Given the description of an element on the screen output the (x, y) to click on. 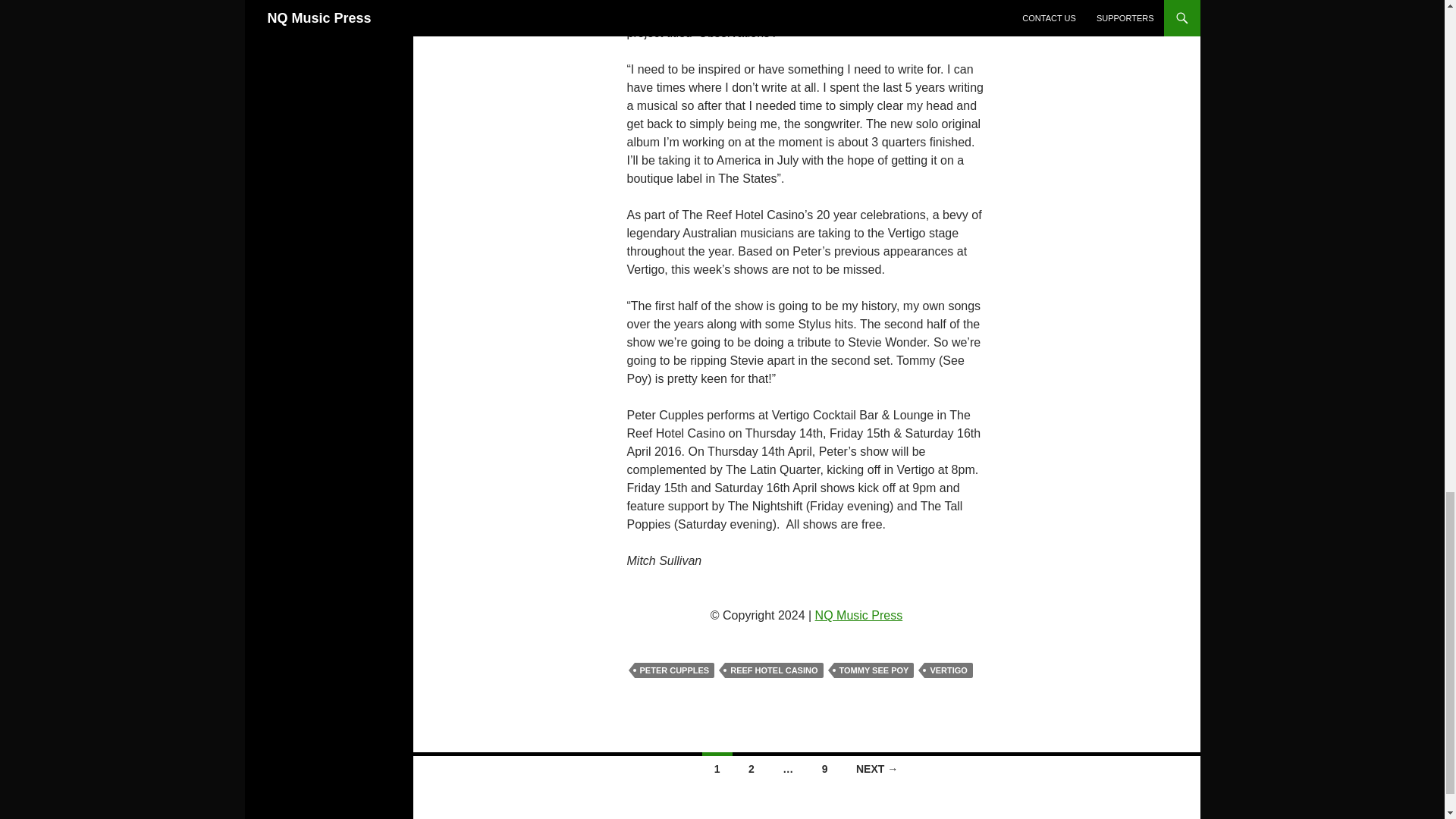
2 (751, 767)
PETER CUPPLES (673, 670)
TOMMY SEE POY (874, 670)
VERTIGO (948, 670)
9 (824, 767)
NQ Music Press (858, 615)
REEF HOTEL CASINO (773, 670)
